Given the description of an element on the screen output the (x, y) to click on. 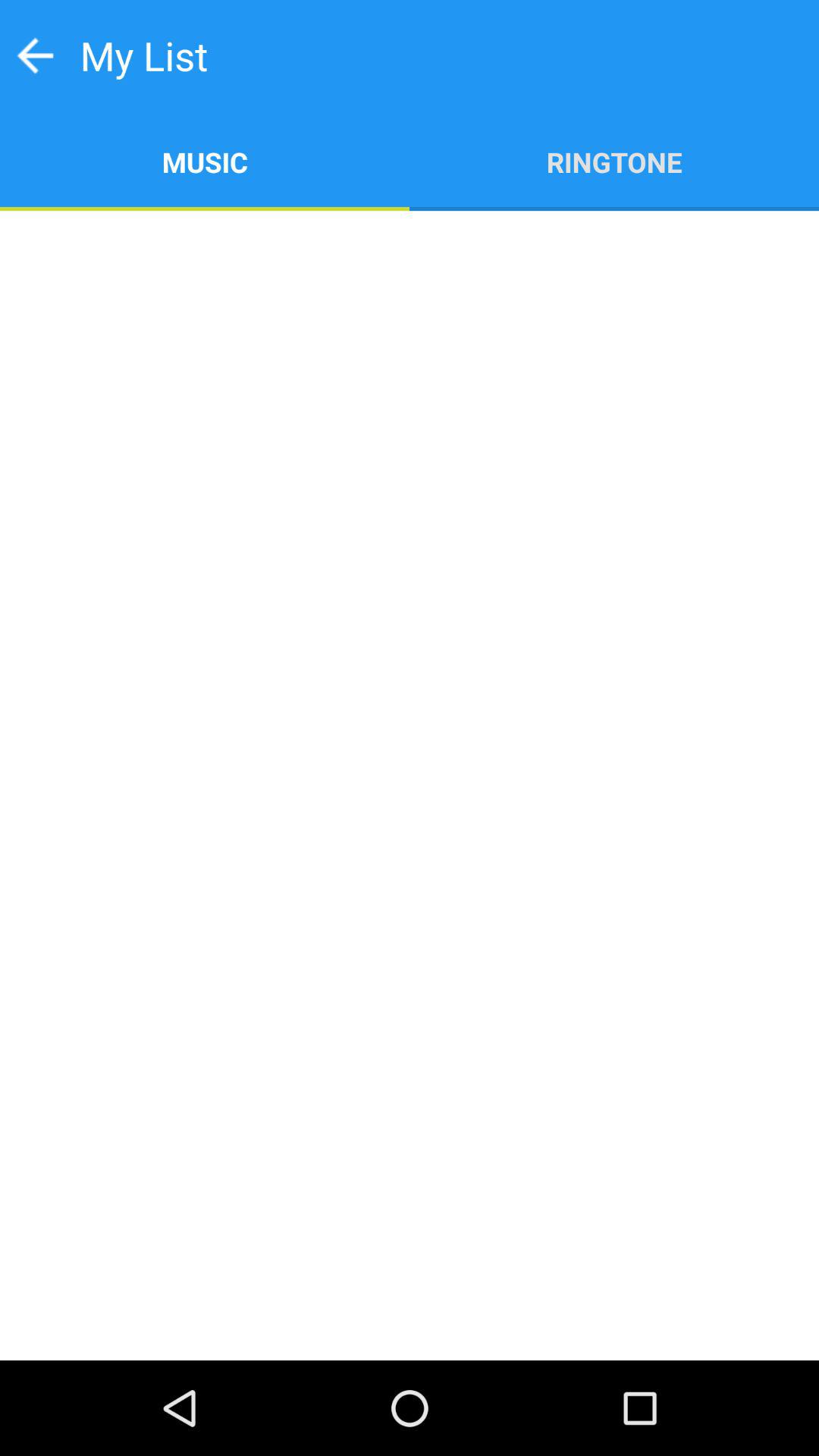
tap item next to music app (614, 161)
